Given the description of an element on the screen output the (x, y) to click on. 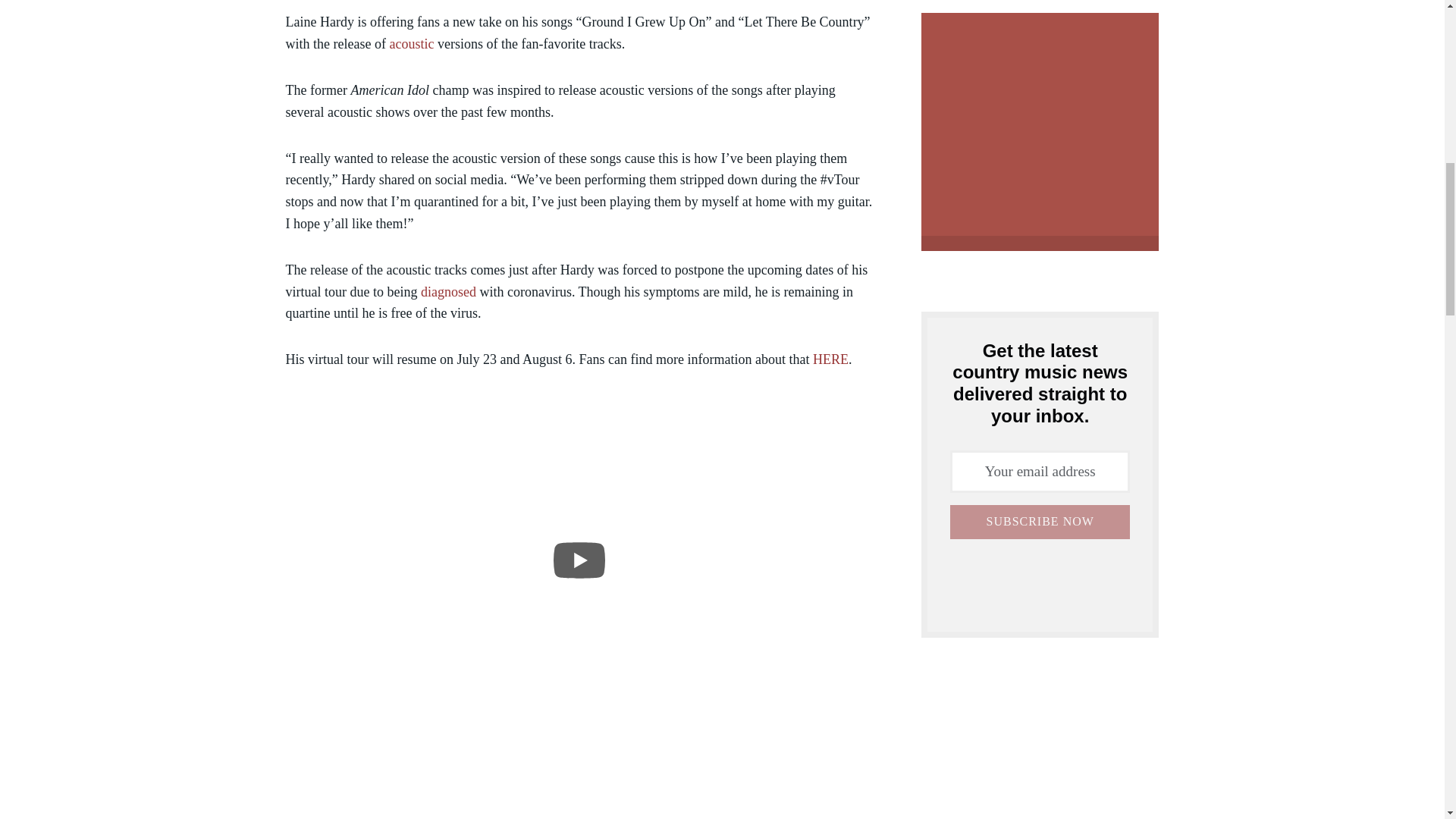
acoustic (410, 43)
diagnosed (448, 291)
HERE (830, 359)
